Given the description of an element on the screen output the (x, y) to click on. 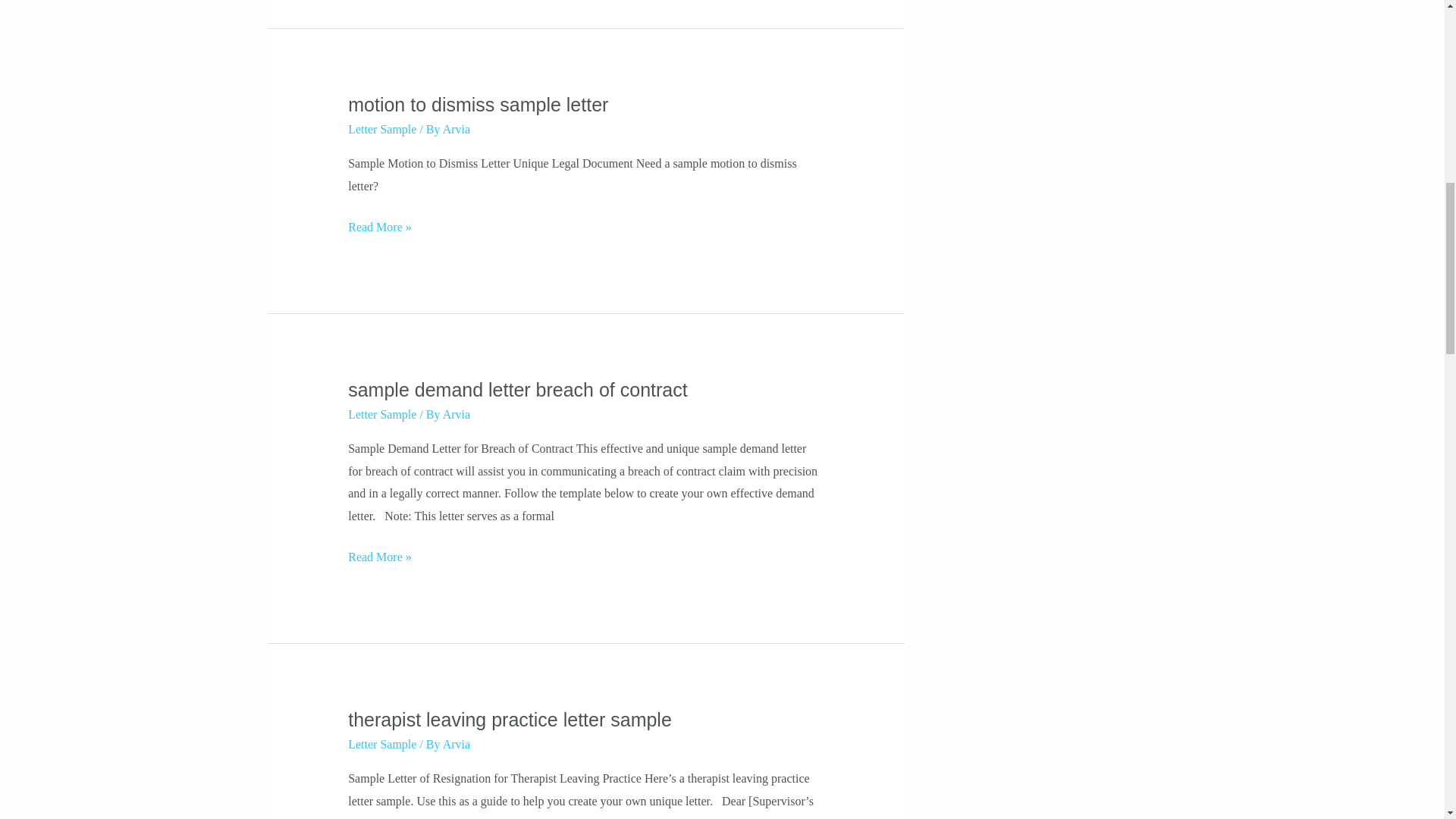
Arvia (456, 413)
Arvia (456, 128)
Letter Sample (381, 413)
View all posts by Arvia (456, 744)
motion to dismiss sample letter (477, 104)
Letter Sample (381, 128)
therapist leaving practice letter sample (509, 719)
Letter Sample (381, 744)
View all posts by Arvia (456, 128)
sample demand letter breach of contract (517, 389)
Arvia (456, 744)
View all posts by Arvia (456, 413)
